Given the description of an element on the screen output the (x, y) to click on. 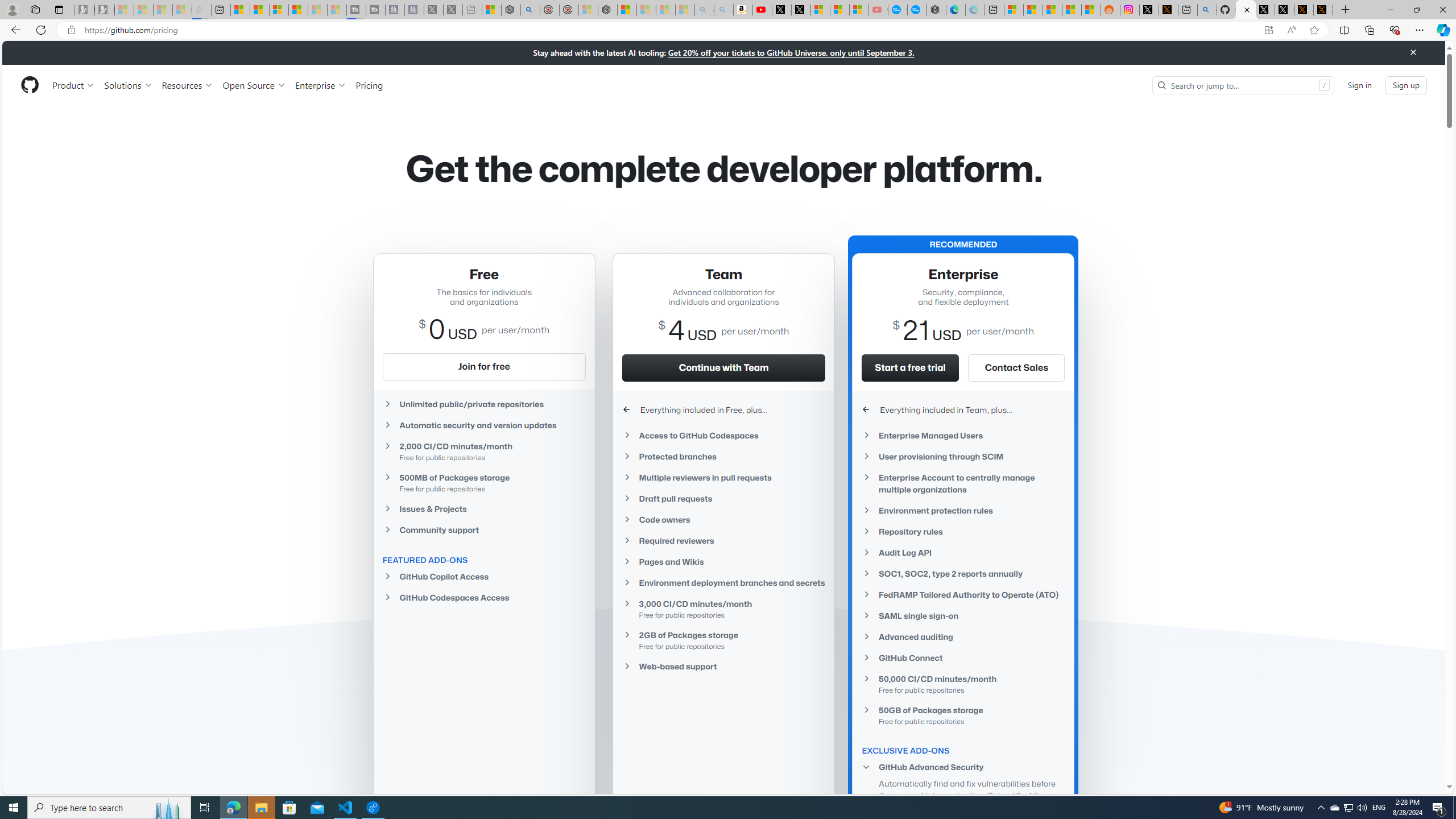
Sign in (1359, 84)
Web-based support (723, 666)
Shanghai, China Weather trends | Microsoft Weather (1090, 9)
Advanced auditing (963, 636)
Day 1: Arriving in Yemen (surreal to be here) - YouTube (762, 9)
Contact Sales (1015, 367)
Log in to X / X (1148, 9)
Repository rules (963, 531)
Environment protection rules (963, 510)
